Given the description of an element on the screen output the (x, y) to click on. 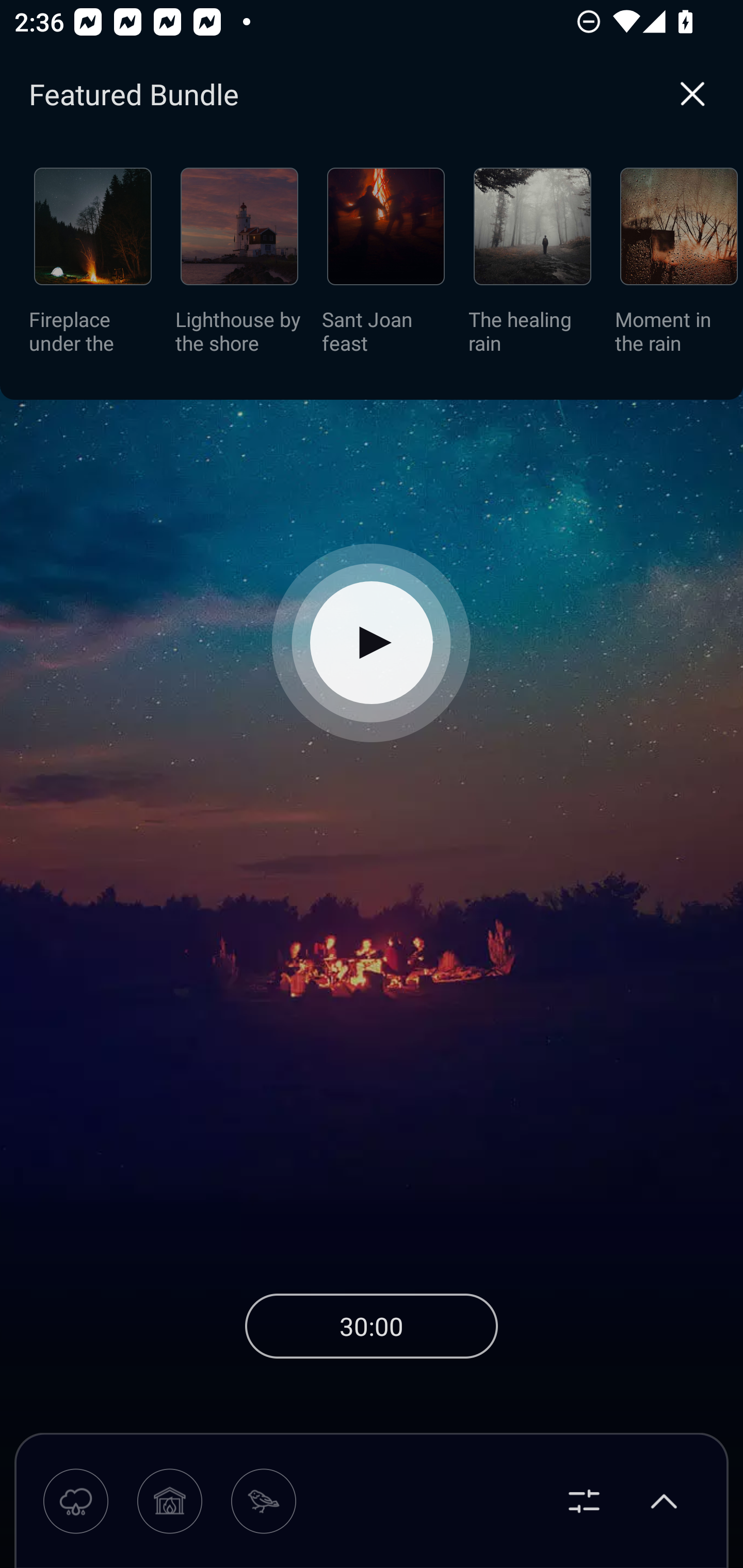
Fireplace under the milky way (92, 267)
Lighthouse by the shore (239, 267)
Sant Joan feast (385, 267)
The healing rain (532, 267)
Moment in the rain (679, 267)
30:00 (371, 1325)
